Given the description of an element on the screen output the (x, y) to click on. 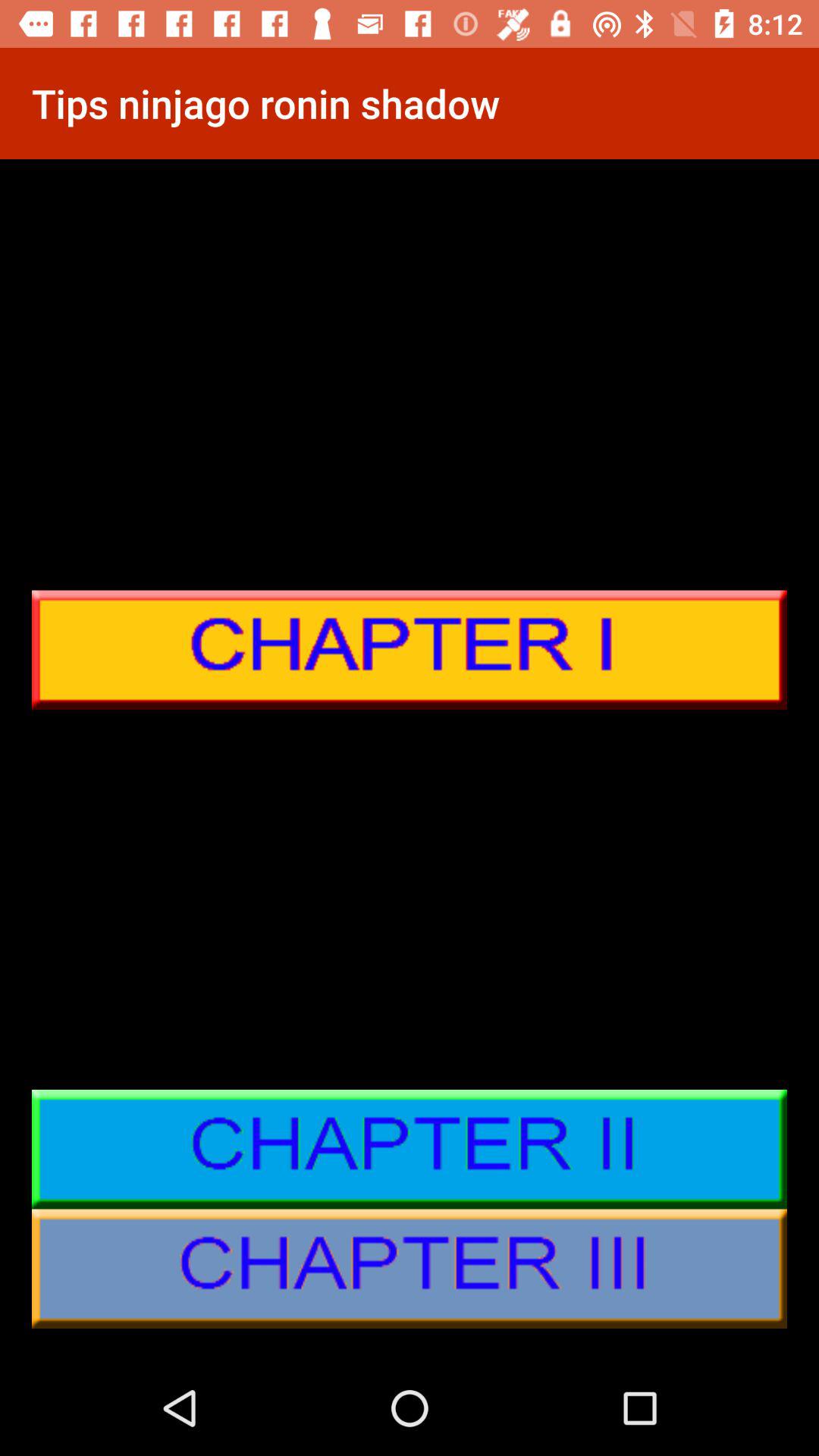
about chapter details (409, 1149)
